Given the description of an element on the screen output the (x, y) to click on. 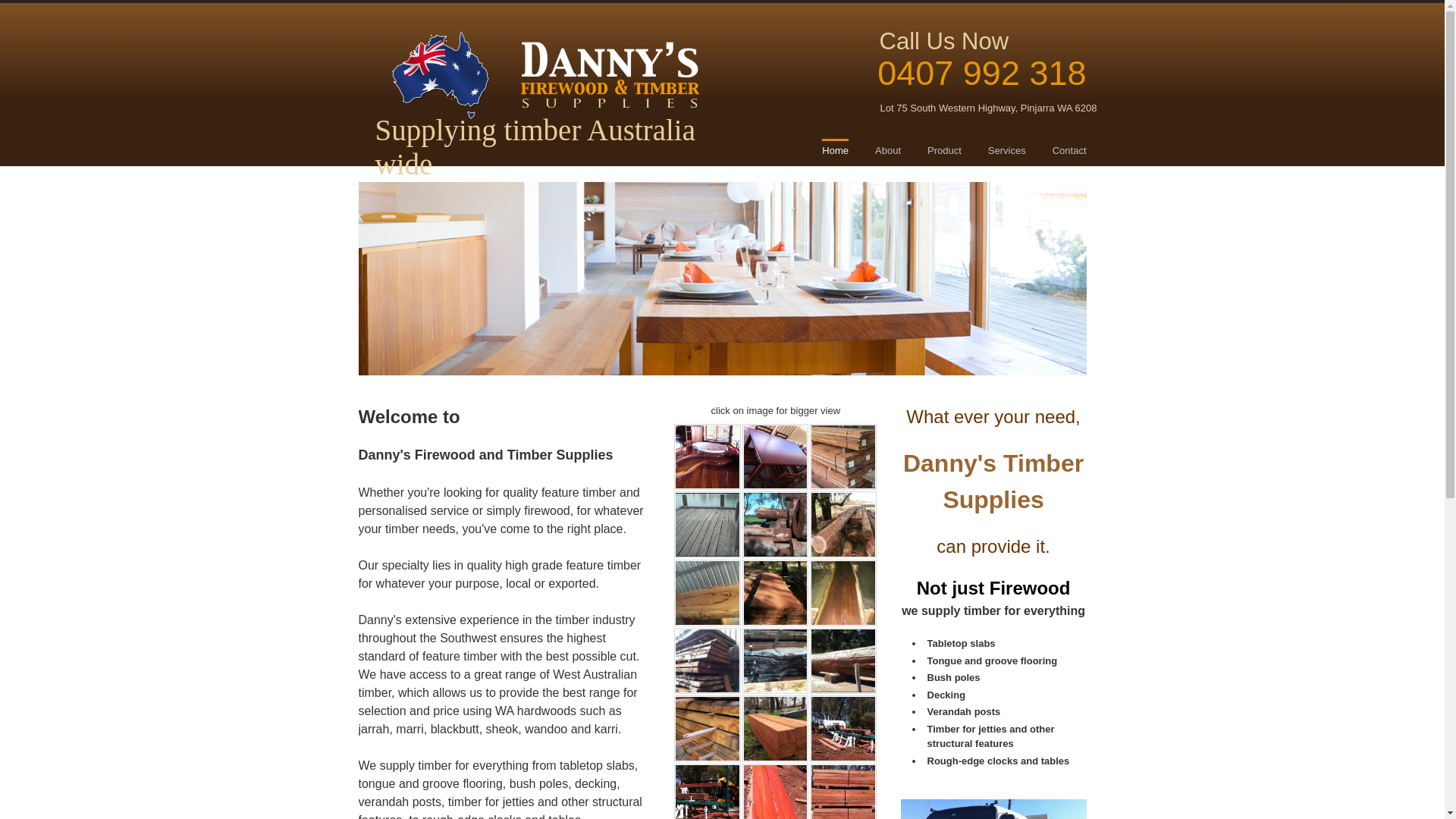
Product Element type: text (944, 152)
Services Element type: text (1007, 152)
Home Element type: text (835, 152)
About Element type: text (887, 152)
Contact Element type: text (1069, 152)
